Given the description of an element on the screen output the (x, y) to click on. 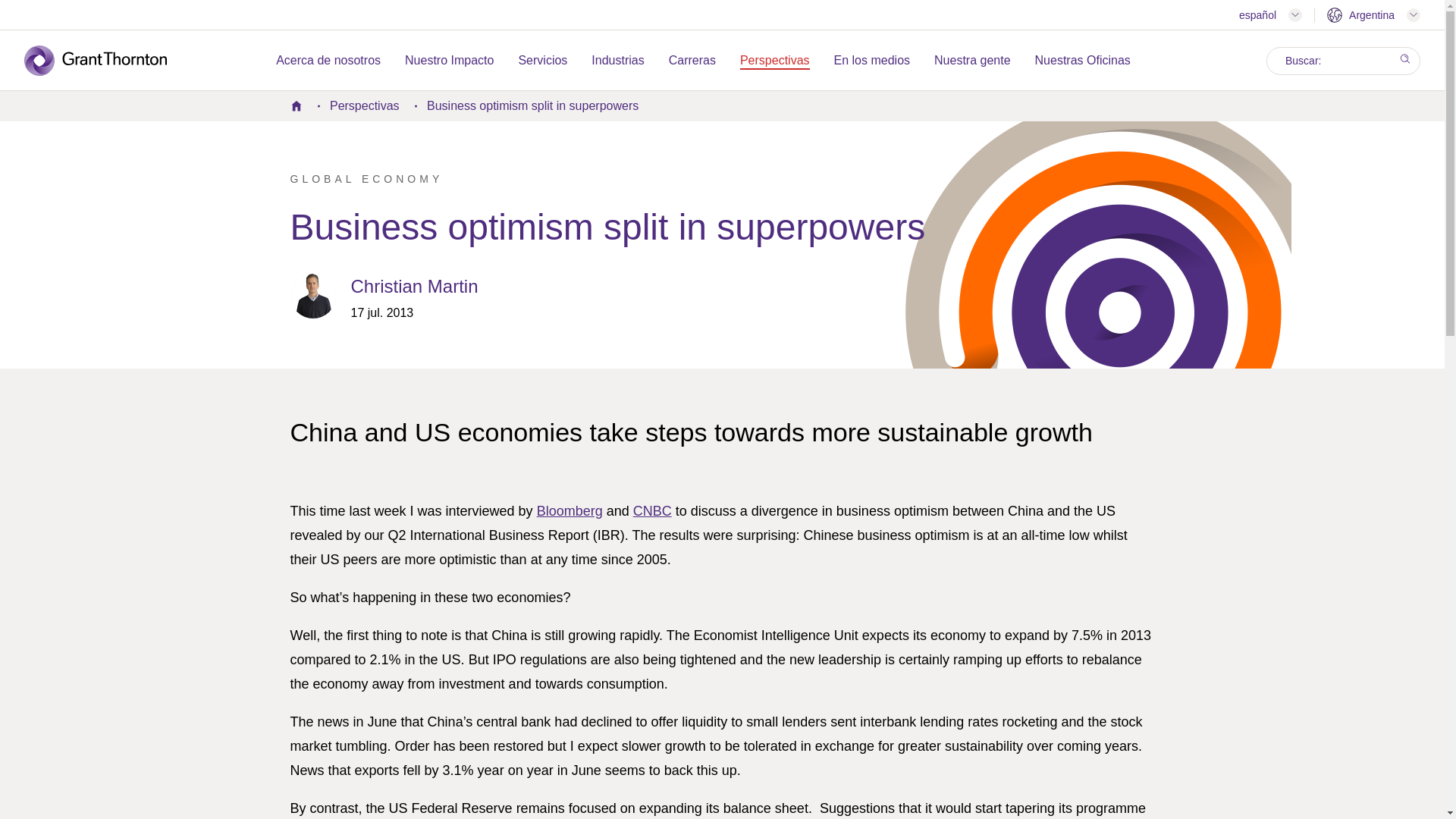
En los medios (872, 60)
Acerca de nosotros (328, 60)
Nuestras Oficinas (1083, 60)
Nuestra gente (972, 60)
Perspectivas (774, 60)
Servicios (542, 60)
Nuestro Impacto (448, 60)
Carreras (692, 60)
Argentina (1373, 14)
Industrias (617, 60)
logo (105, 60)
